Given the description of an element on the screen output the (x, y) to click on. 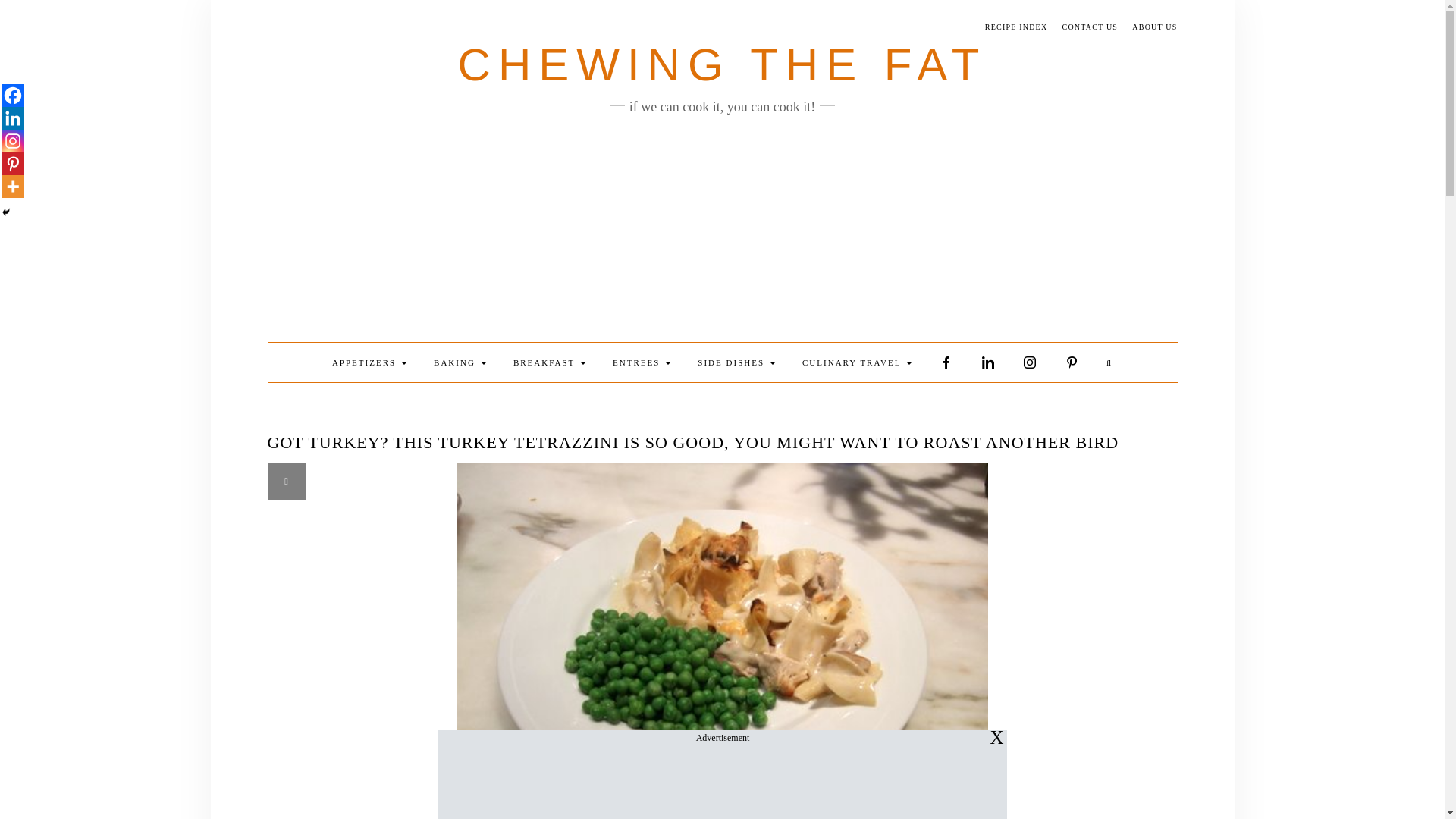
Instagram (12, 140)
Facebook (12, 95)
ABOUT US (1154, 26)
Linkedin (12, 118)
More (12, 186)
Pinterest (12, 163)
3rd party ad content (721, 782)
CHEWING THE FAT (722, 64)
BAKING (460, 362)
RECIPE INDEX (1015, 26)
CONTACT US (1090, 26)
APPETIZERS (369, 362)
